Given the description of an element on the screen output the (x, y) to click on. 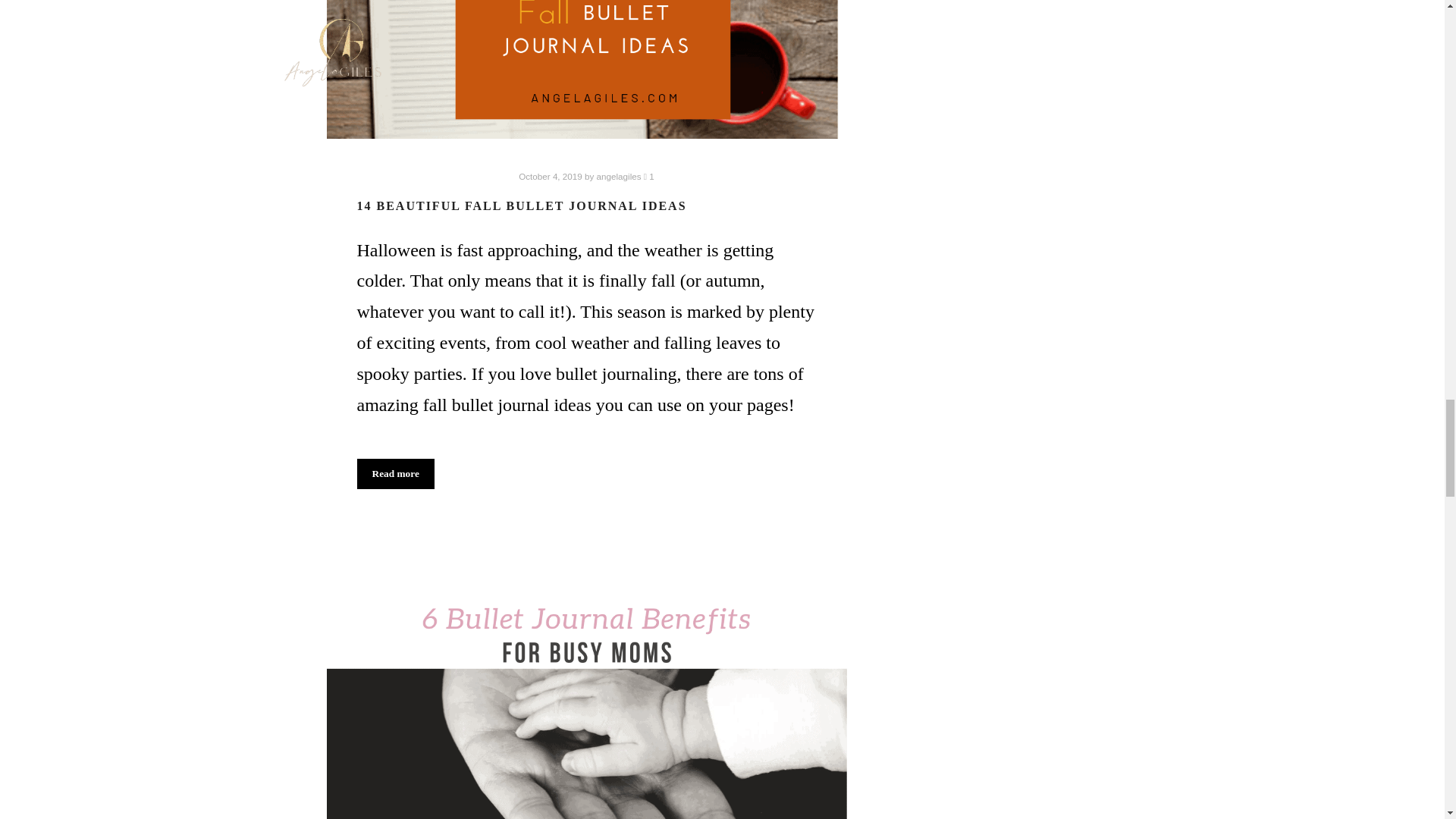
View all posts by angelagiles (619, 175)
